Given the description of an element on the screen output the (x, y) to click on. 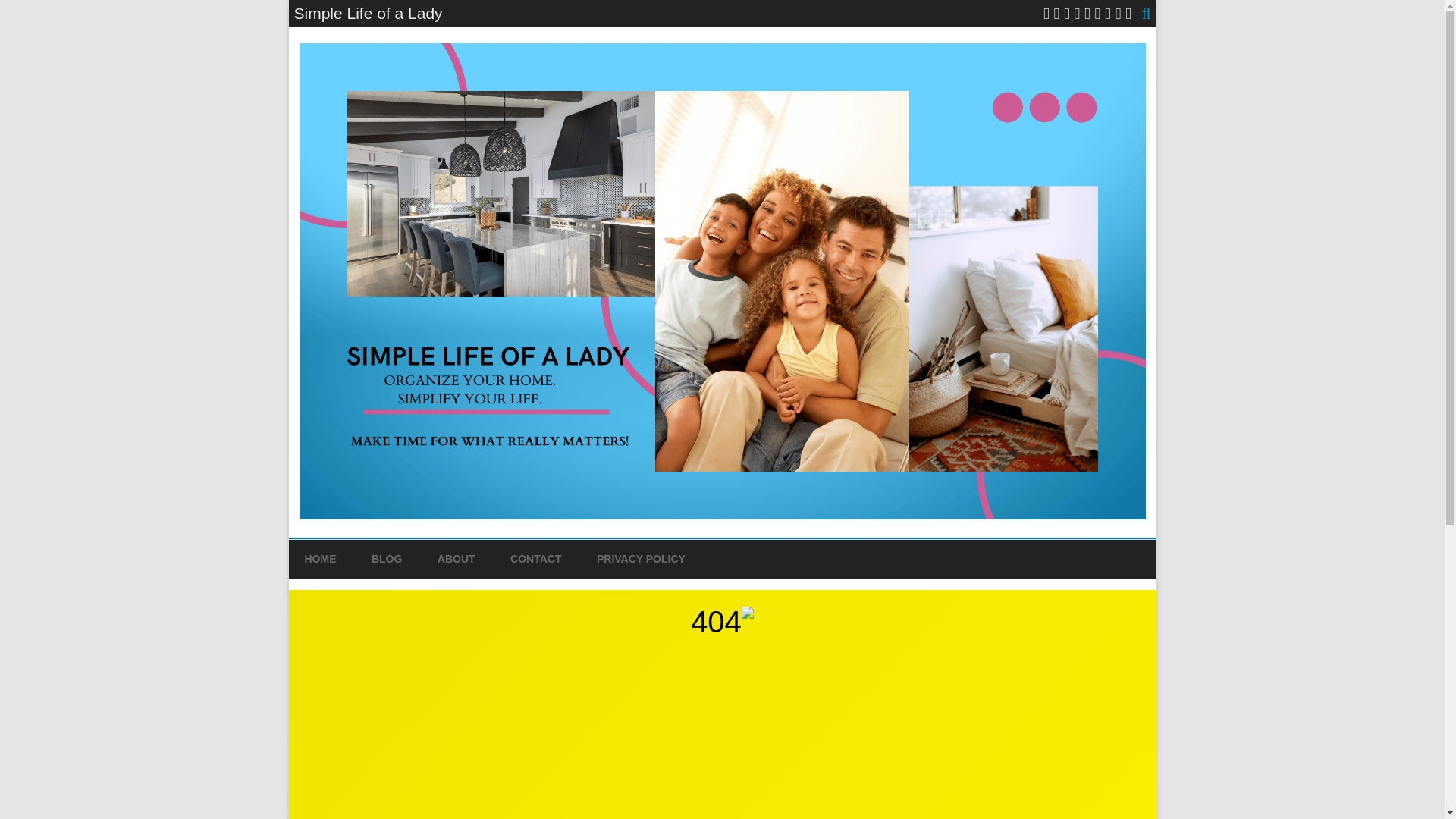
CONTACT (535, 559)
ABOUT (457, 559)
PRIVACY POLICY (640, 559)
